Given the description of an element on the screen output the (x, y) to click on. 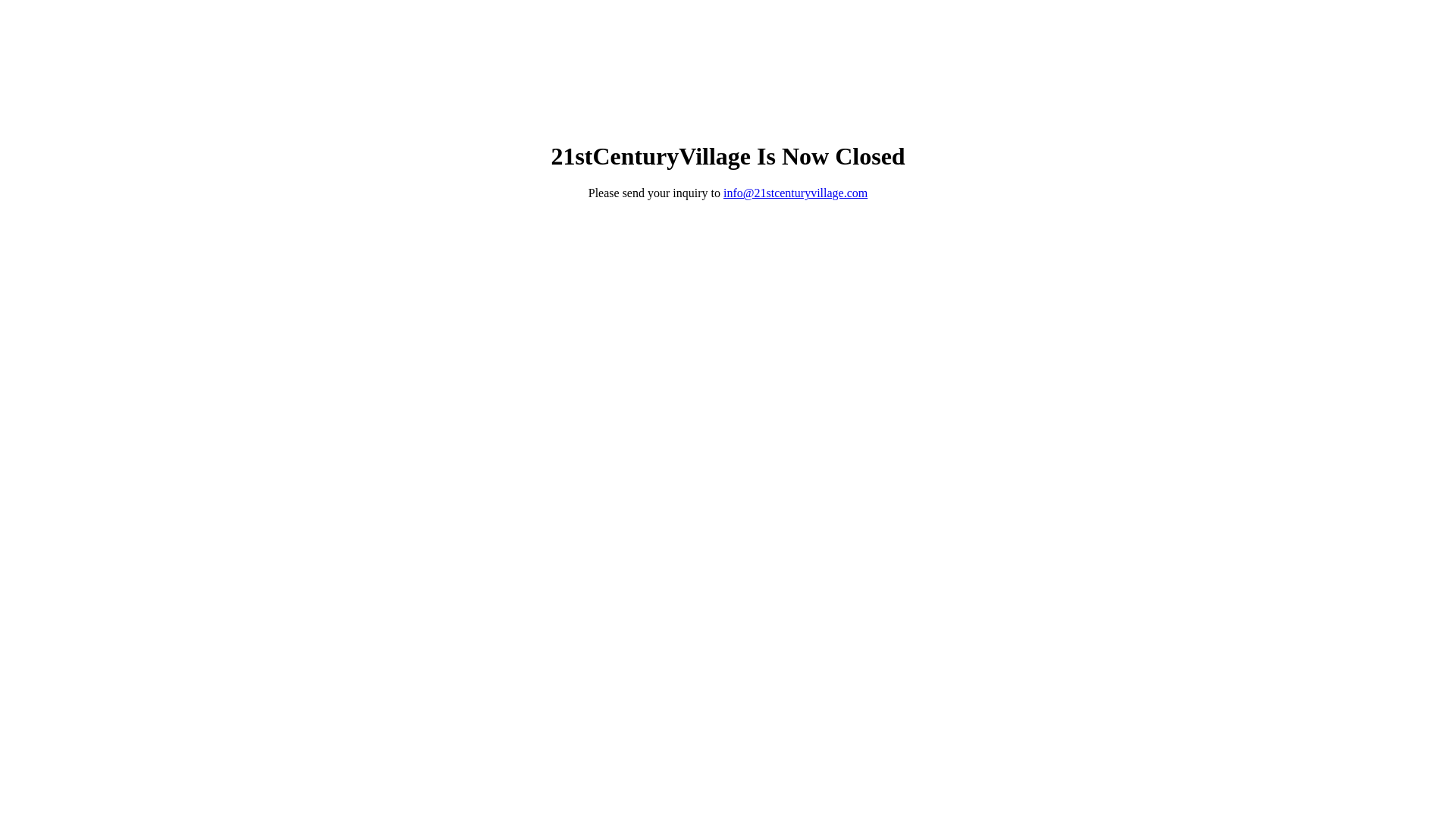
info@21stcenturyvillage.com Element type: text (795, 192)
